Given the description of an element on the screen output the (x, y) to click on. 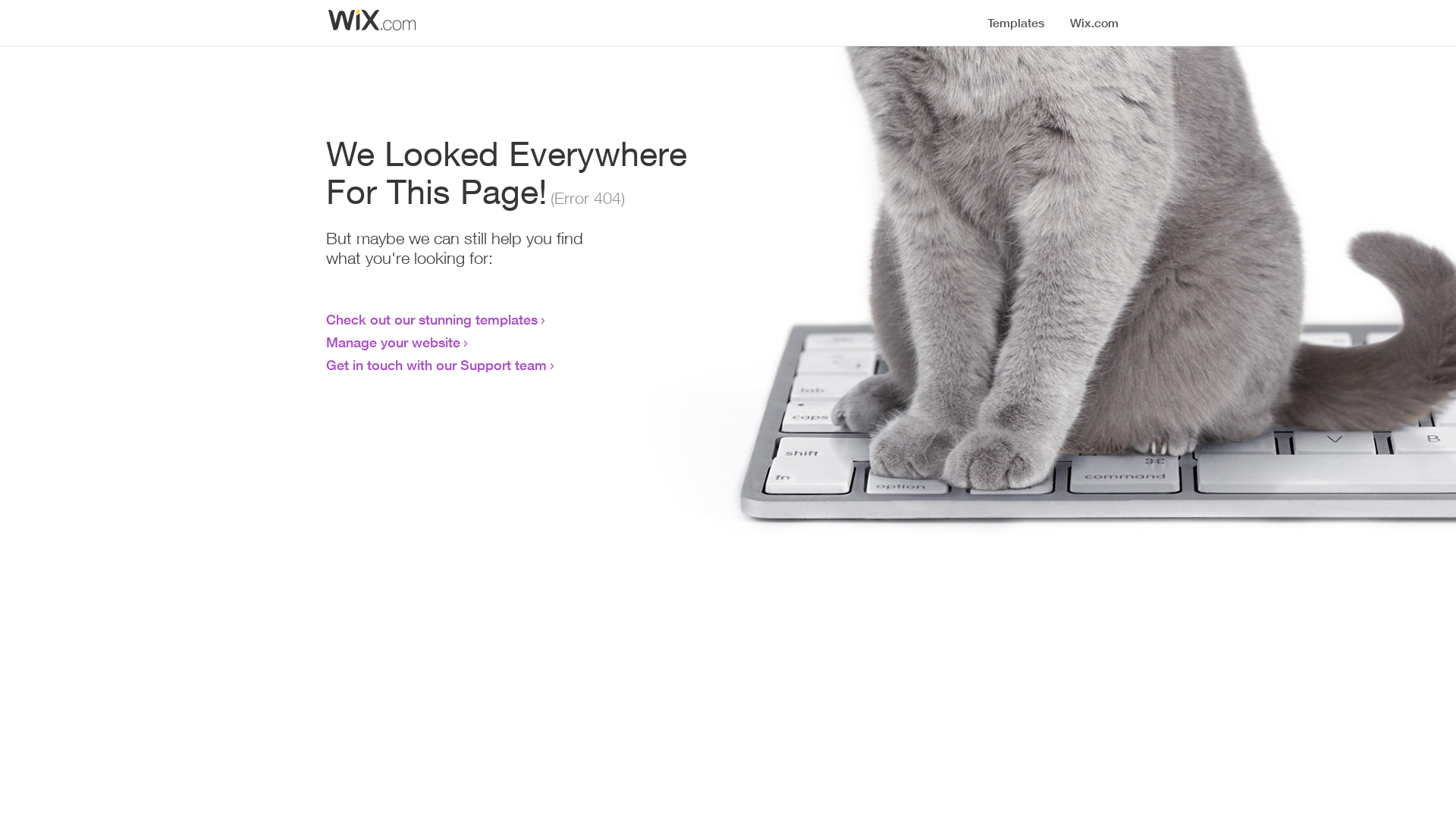
Get in touch with our Support team Element type: text (436, 364)
Check out our stunning templates Element type: text (431, 318)
Manage your website Element type: text (393, 341)
